Given the description of an element on the screen output the (x, y) to click on. 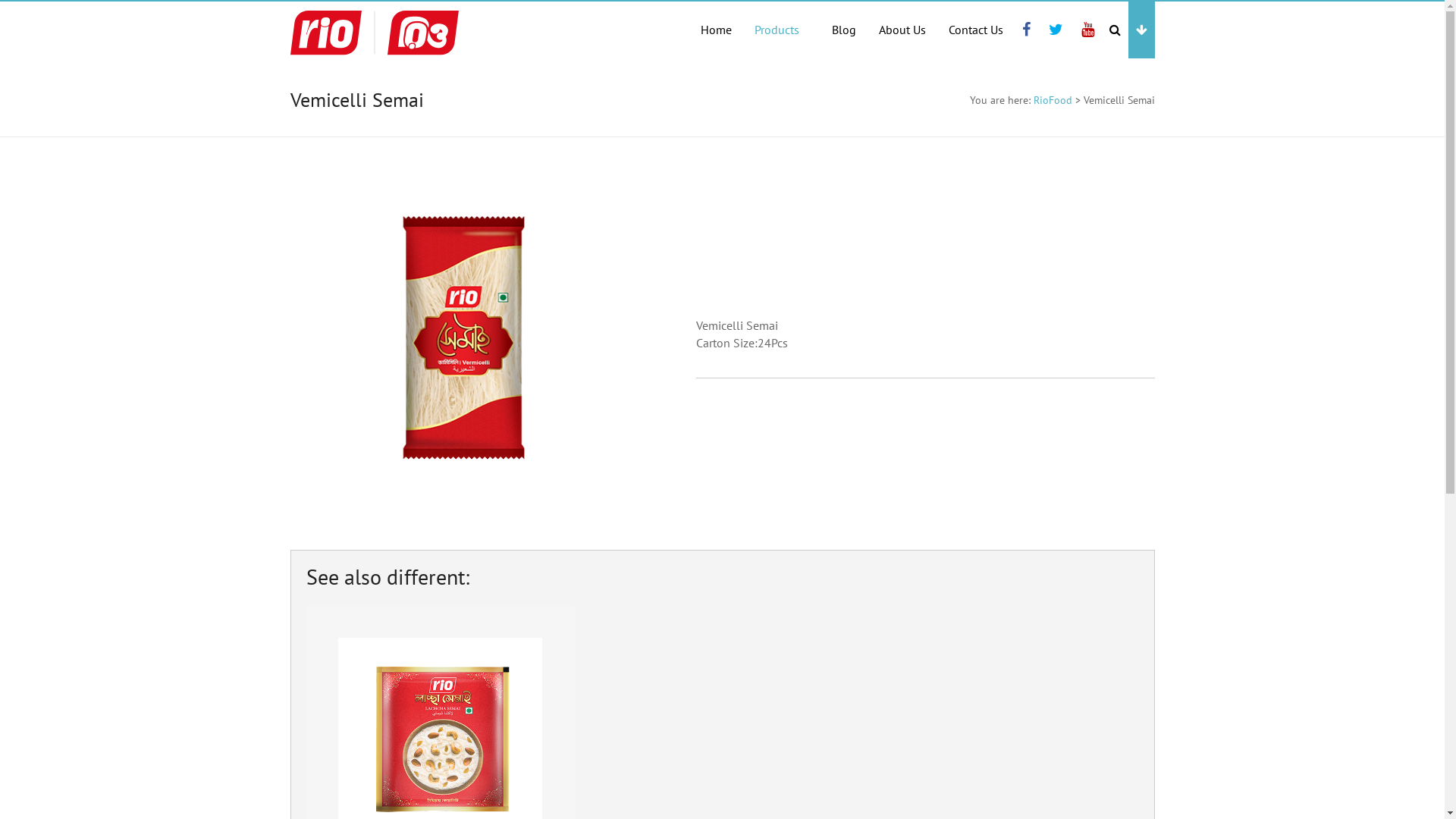
Youtube Element type: text (1087, 29)
RioFood Facebook Element type: text (1026, 29)
RioFood Twitter Element type: text (1055, 29)
RioFood Element type: text (1051, 99)
Products Element type: text (780, 29)
About Us Element type: text (901, 29)
Home Element type: text (715, 29)
Contact Us Element type: text (974, 29)
Blog Element type: text (843, 29)
